Given the description of an element on the screen output the (x, y) to click on. 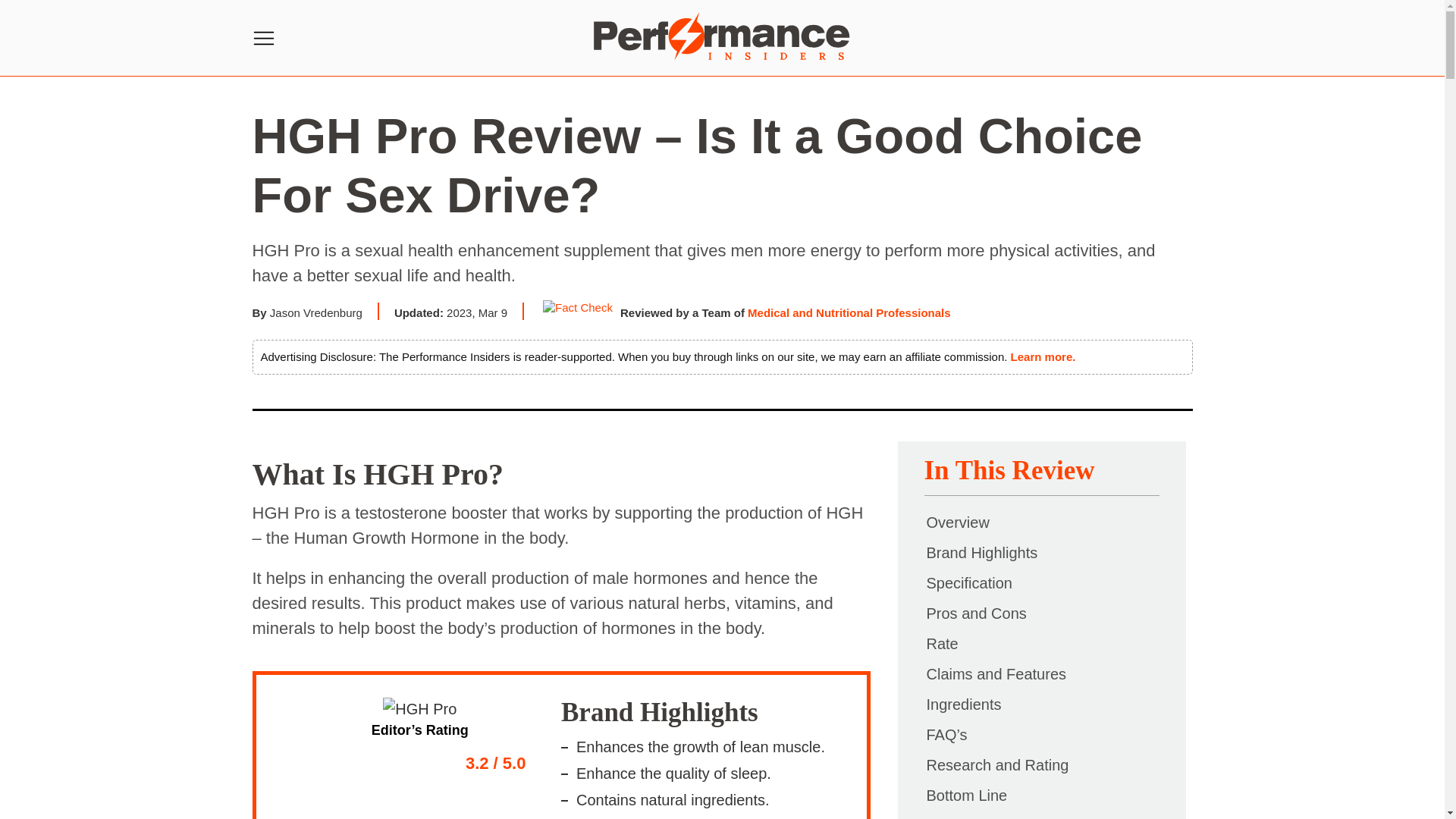
Learn more. (1042, 356)
Ingredients (962, 704)
Claims and Features (995, 673)
Search (22, 27)
Pros and Cons (975, 613)
Overview (956, 522)
Brand Highlights (981, 552)
Medical and Nutritional Professionals (849, 312)
Rate (940, 643)
Specification (967, 582)
